Given the description of an element on the screen output the (x, y) to click on. 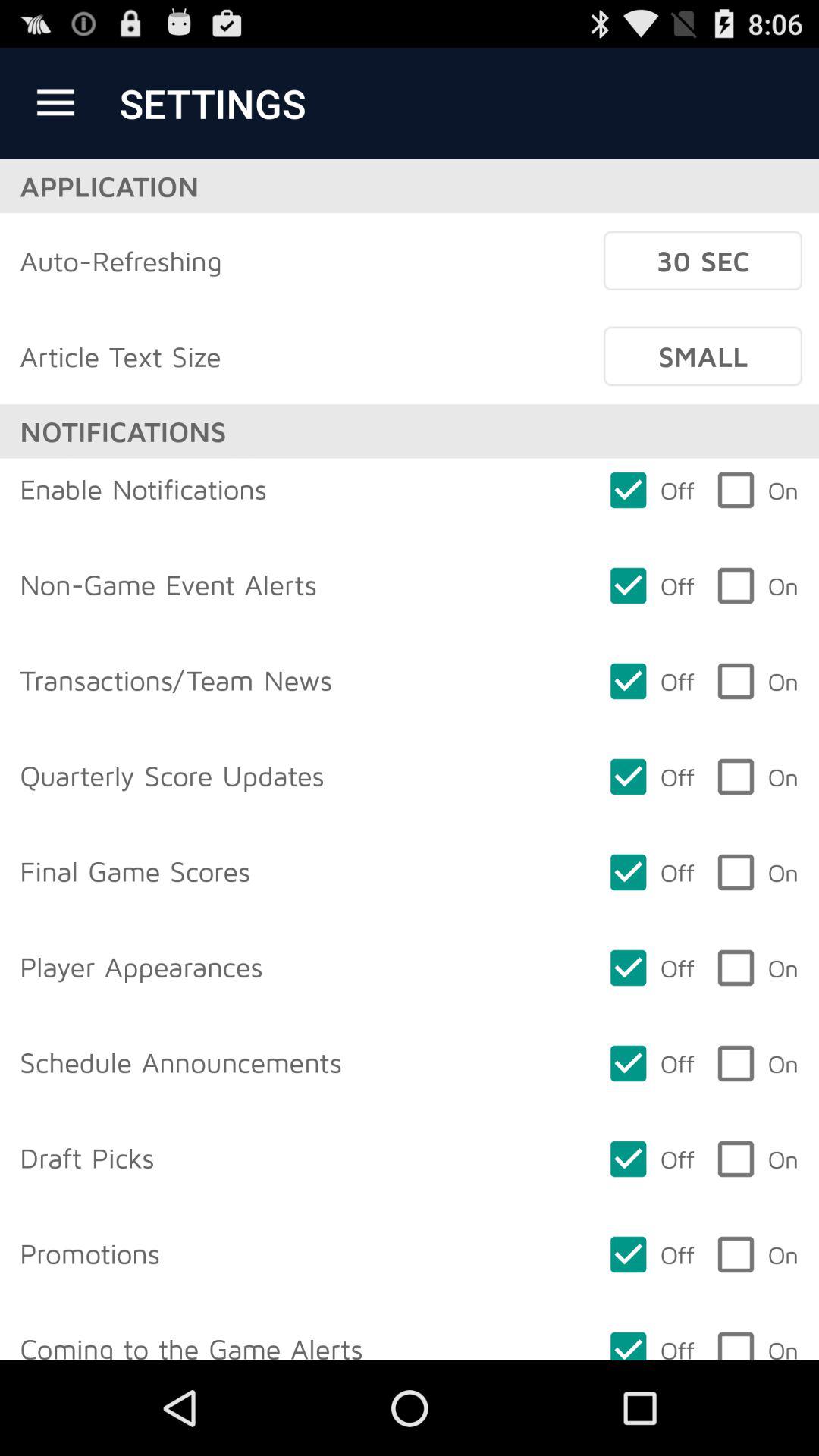
press the icon above application icon (55, 103)
